Given the description of an element on the screen output the (x, y) to click on. 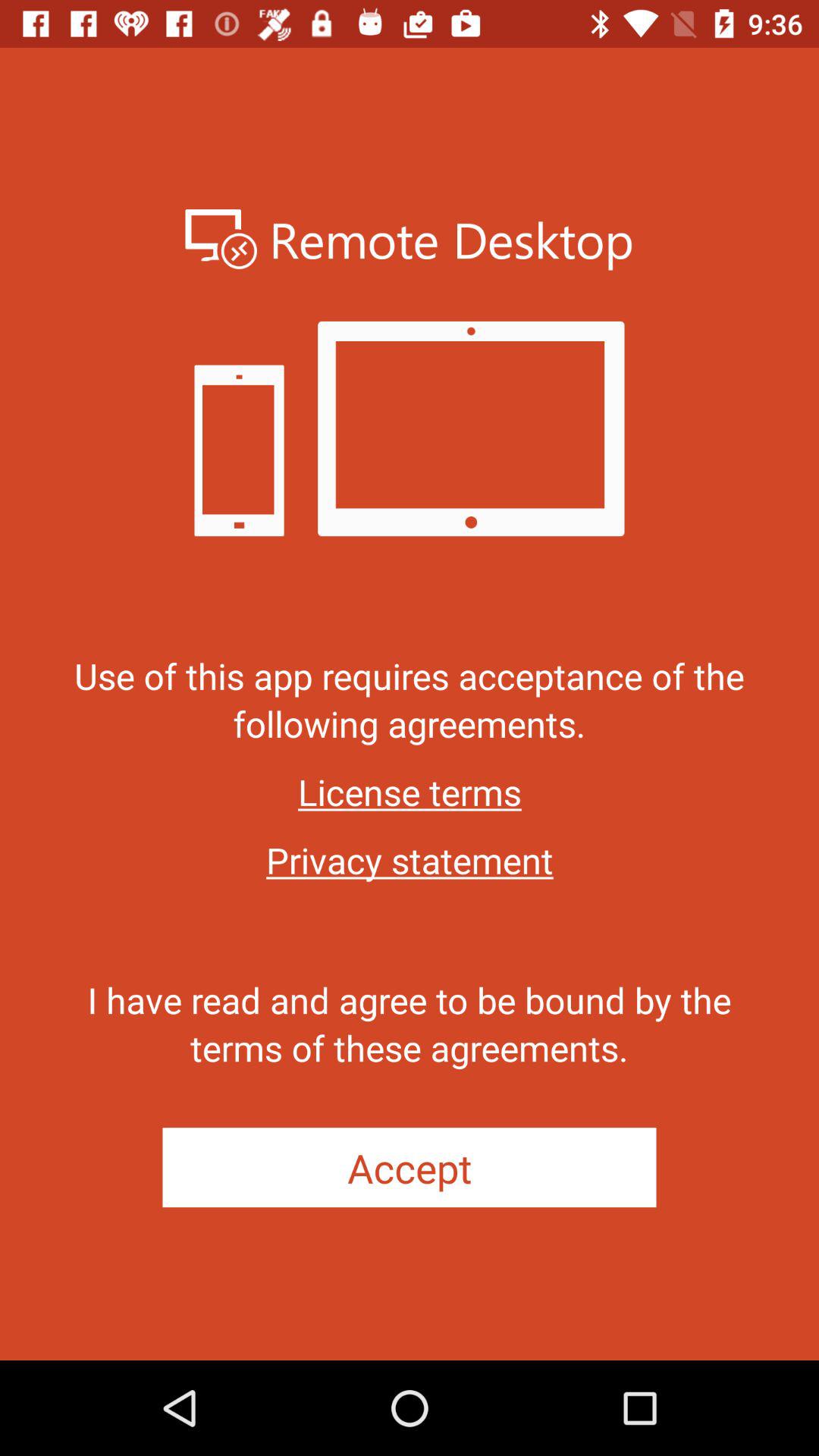
flip until the license terms item (409, 791)
